Given the description of an element on the screen output the (x, y) to click on. 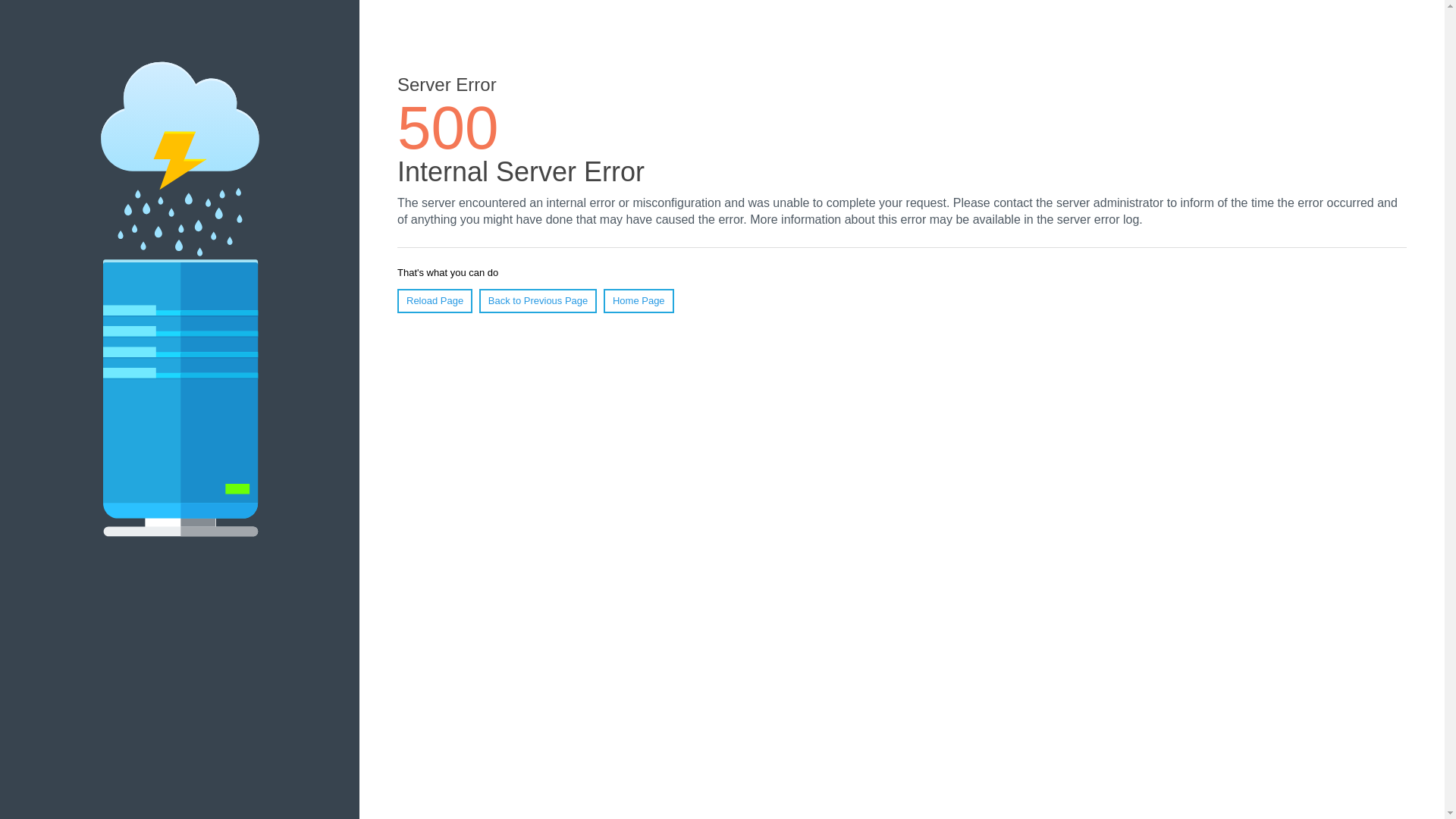
Back to Previous Page (537, 300)
Home Page (639, 300)
Reload Page (434, 300)
